Given the description of an element on the screen output the (x, y) to click on. 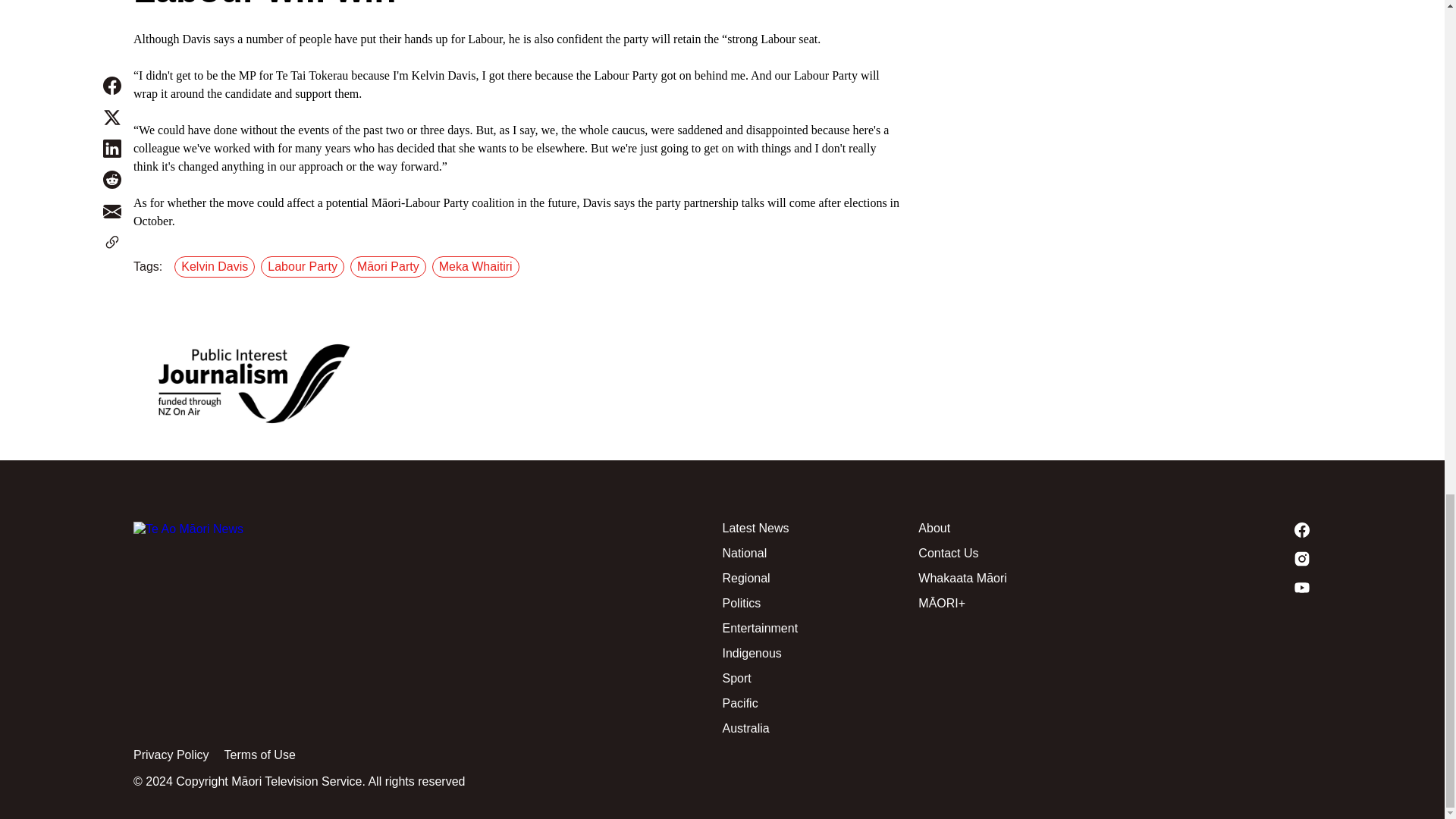
Meka Whaitiri (478, 266)
Instagram (1213, 558)
Youtube (1213, 587)
Kelvin Davis (217, 266)
Facebook (1213, 529)
Labour Party (305, 266)
